Given the description of an element on the screen output the (x, y) to click on. 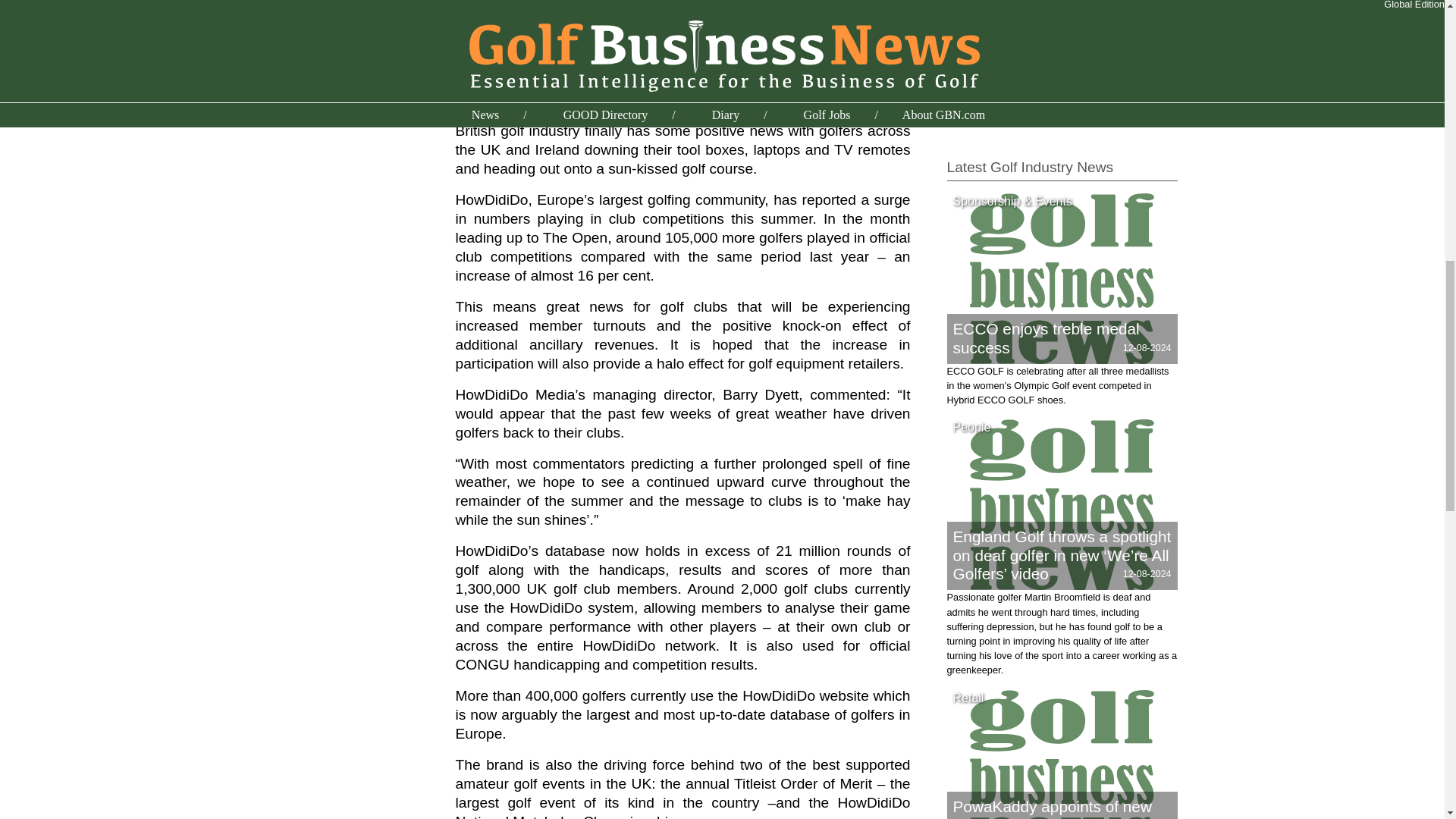
Syngenta (973, 74)
Seventy2 Golf (986, 7)
ZEN GREEN STAGE (1003, 110)
Retail (968, 697)
Simon Gidman Golf Course Architects (1056, 25)
People (970, 426)
